Given the description of an element on the screen output the (x, y) to click on. 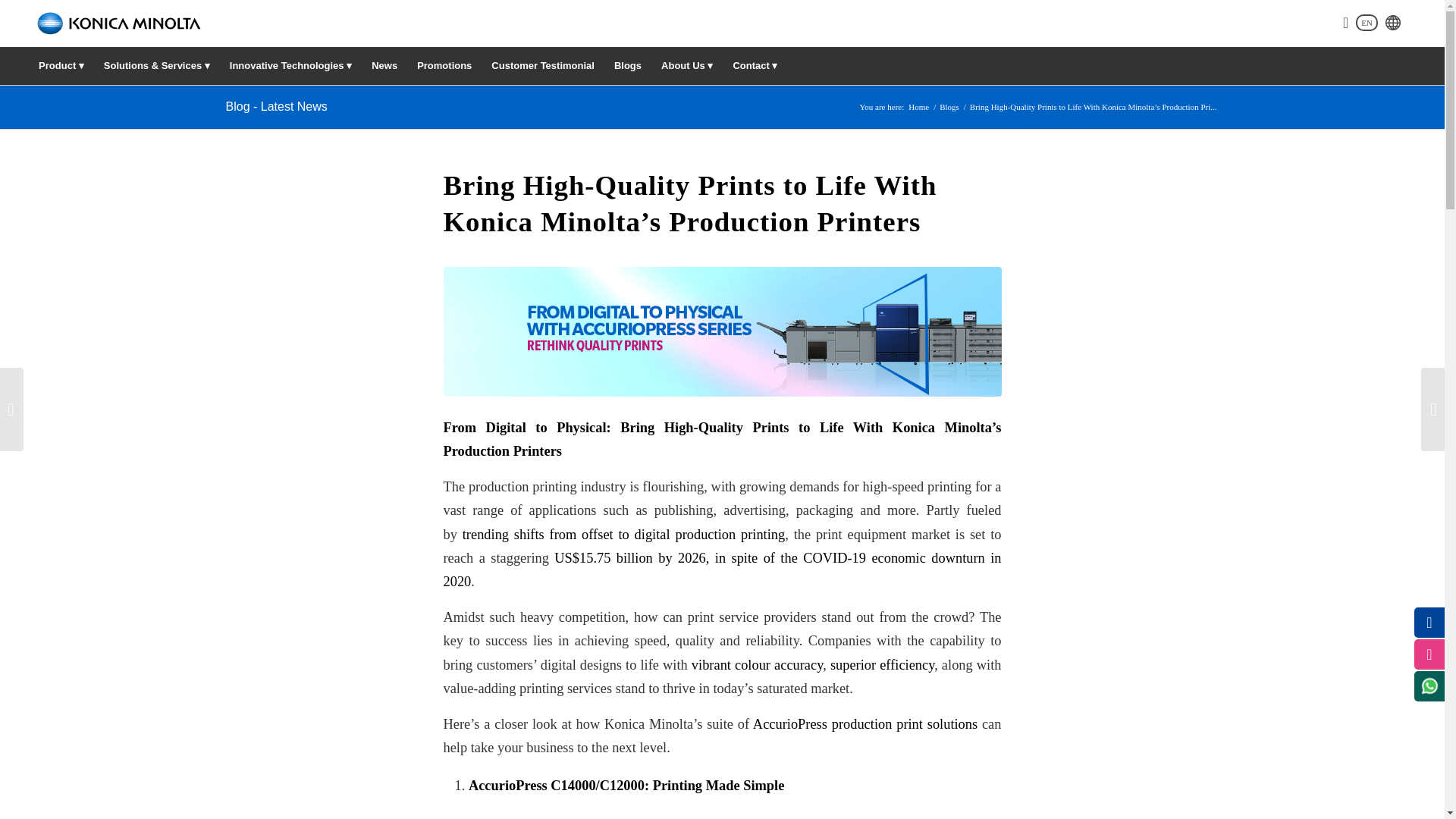
EN (1366, 22)
Permanent Link: Blog - Latest News (276, 106)
News (384, 65)
Blogs (948, 107)
Product (61, 65)
Innovative Technologies (290, 65)
KONICA MINOLTA Indonesia (918, 107)
Promotions (444, 65)
